Given the description of an element on the screen output the (x, y) to click on. 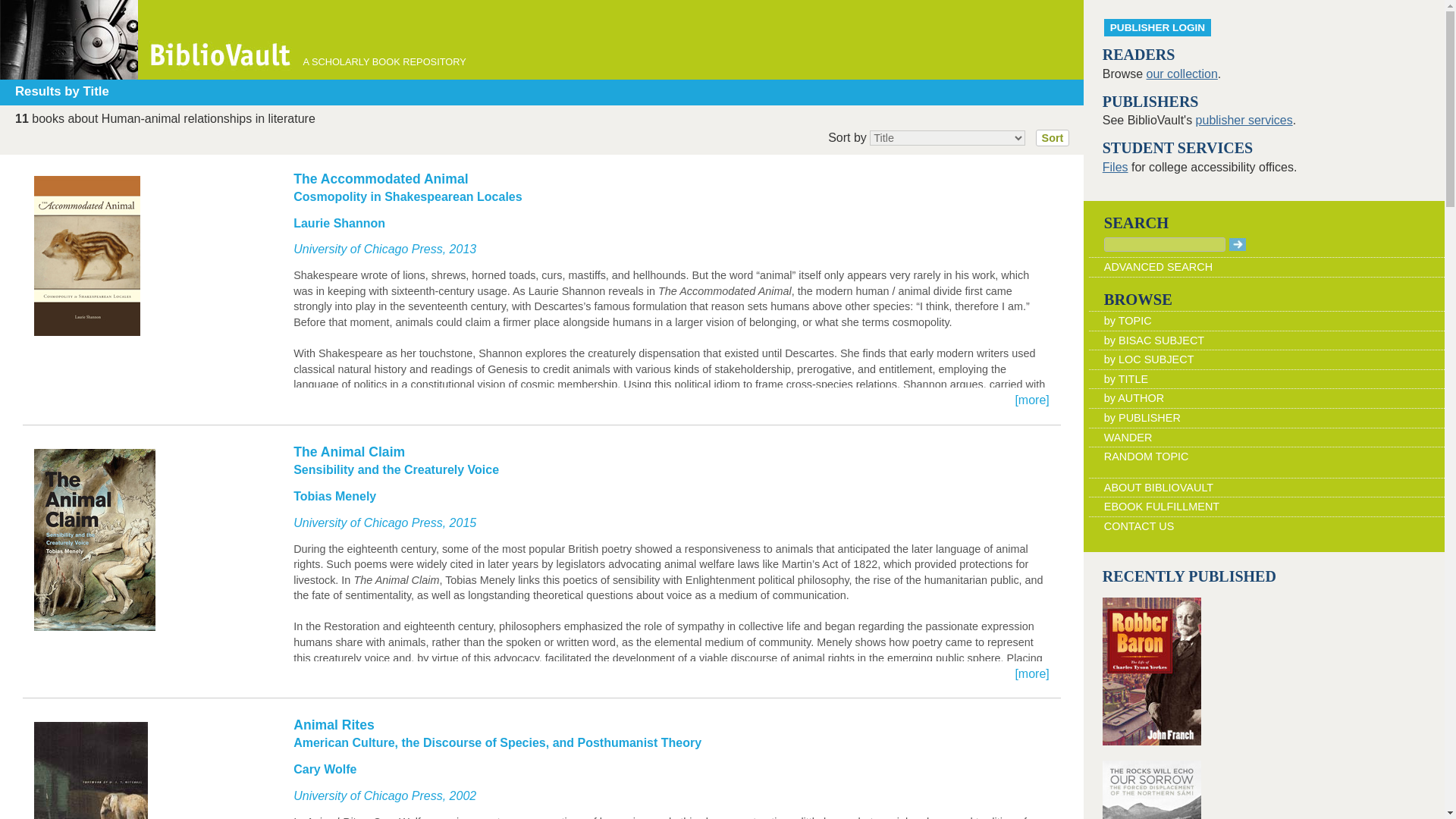
Publisher Login (1157, 27)
PUBLISHER LOGIN (1157, 27)
publisher services (1243, 119)
See more information about this book (541, 767)
Files (1115, 166)
Sort (1052, 138)
our collection (1182, 73)
